Given the description of an element on the screen output the (x, y) to click on. 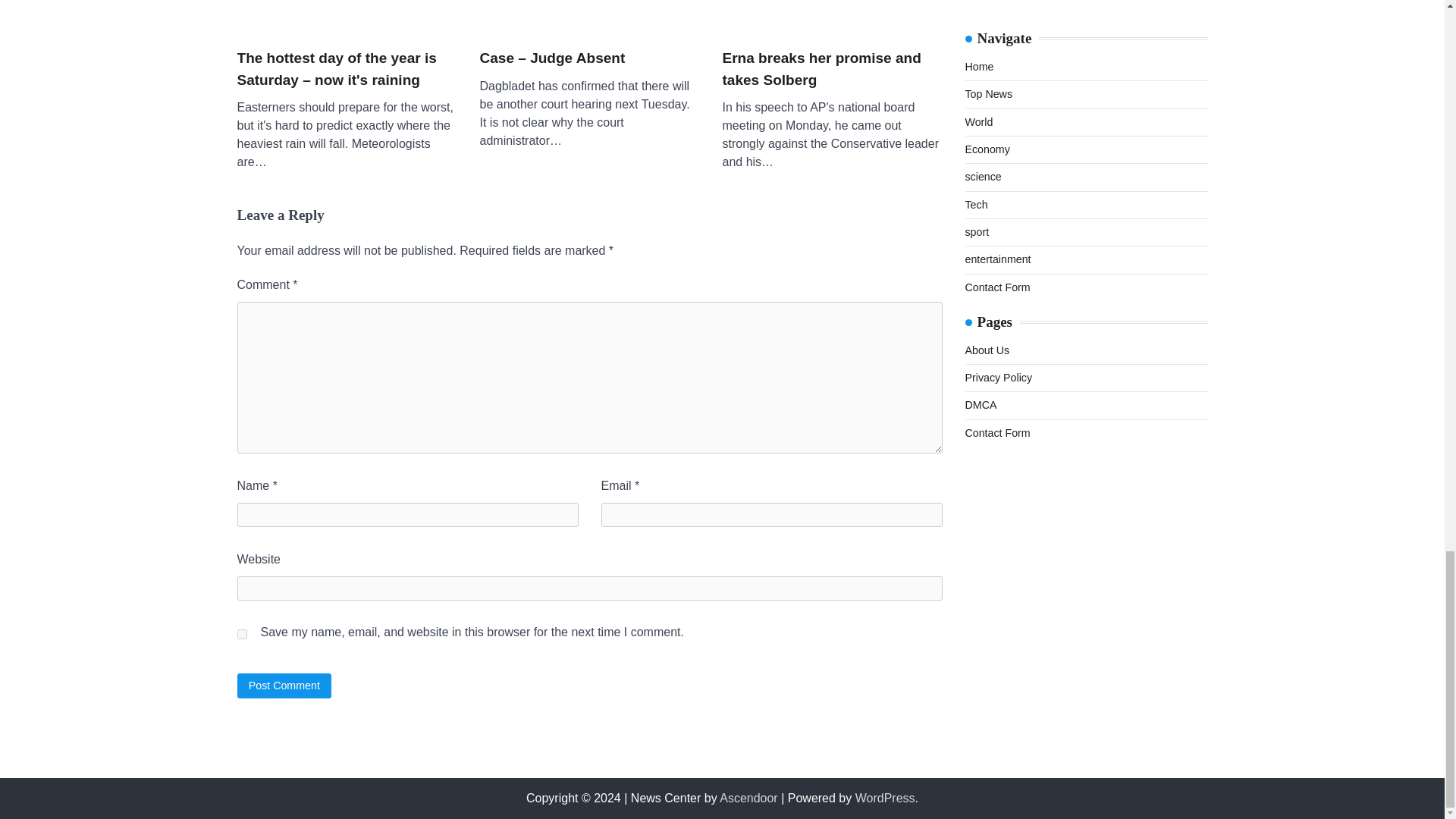
Post Comment (283, 685)
Erna breaks her promise and takes Solberg (832, 68)
yes (240, 634)
Post Comment (283, 685)
Erna breaks her promise and takes Solberg (832, 16)
